Given the description of an element on the screen output the (x, y) to click on. 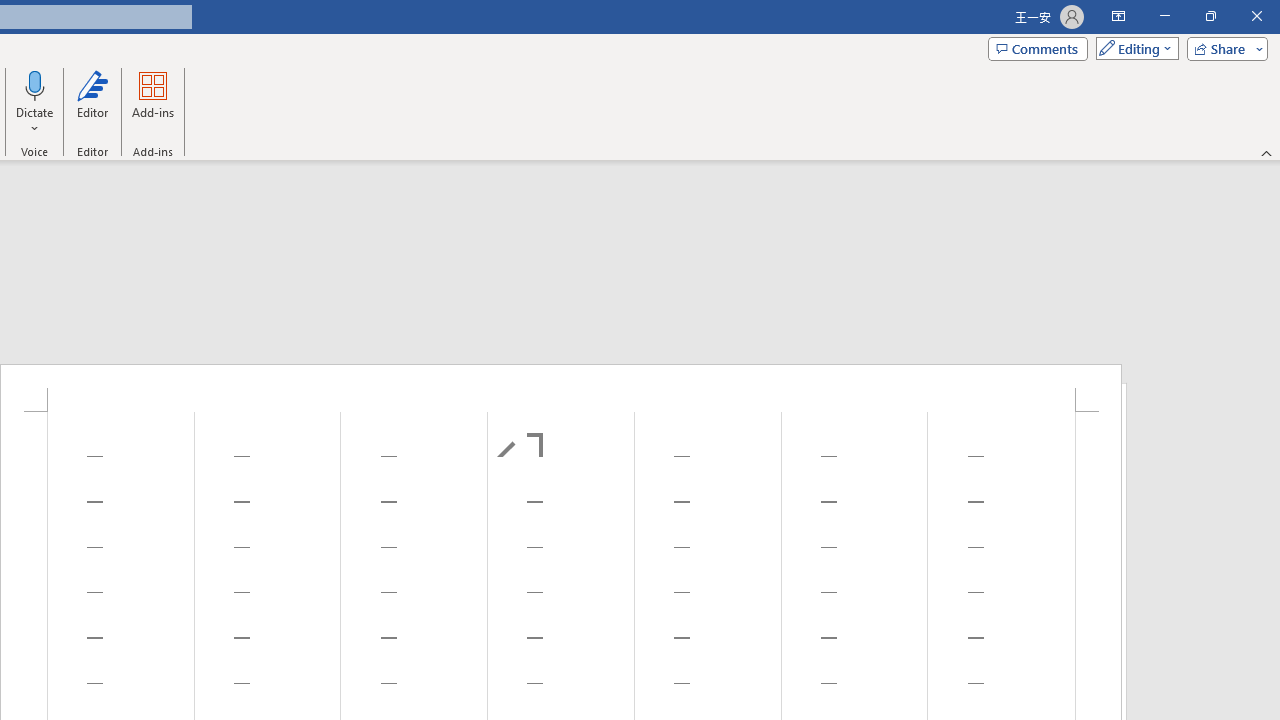
Close (1256, 16)
Mode (1133, 47)
More Options (35, 121)
Ribbon Display Options (1118, 16)
Collapse the Ribbon (1267, 152)
Share (1223, 48)
Dictate (35, 84)
Header -Section 1- (561, 387)
Minimize (1164, 16)
Dictate (35, 102)
Editor (92, 102)
Comments (1038, 48)
